Given the description of an element on the screen output the (x, y) to click on. 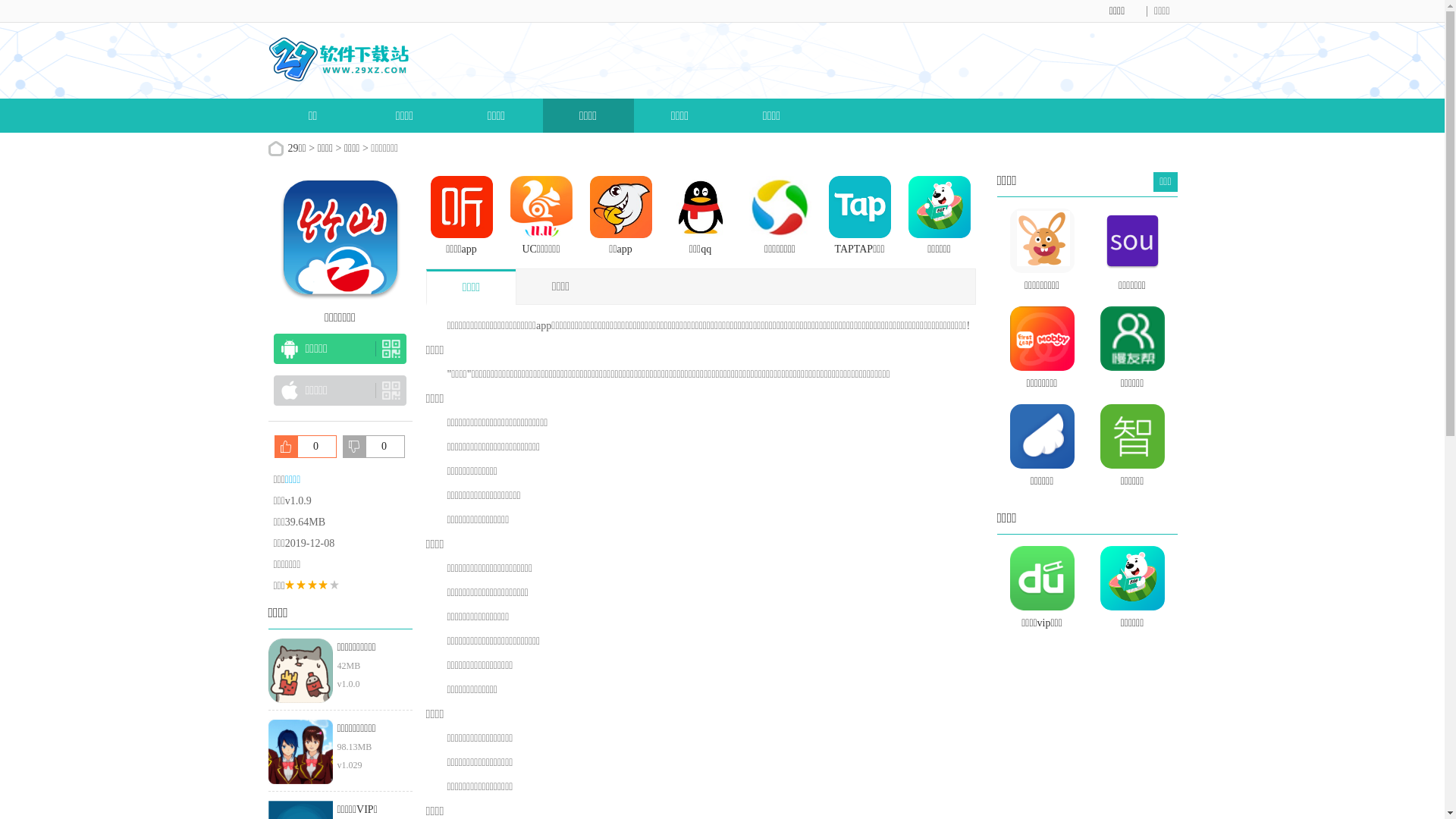
0 Element type: text (305, 446)
0 Element type: text (373, 446)
